Given the description of an element on the screen output the (x, y) to click on. 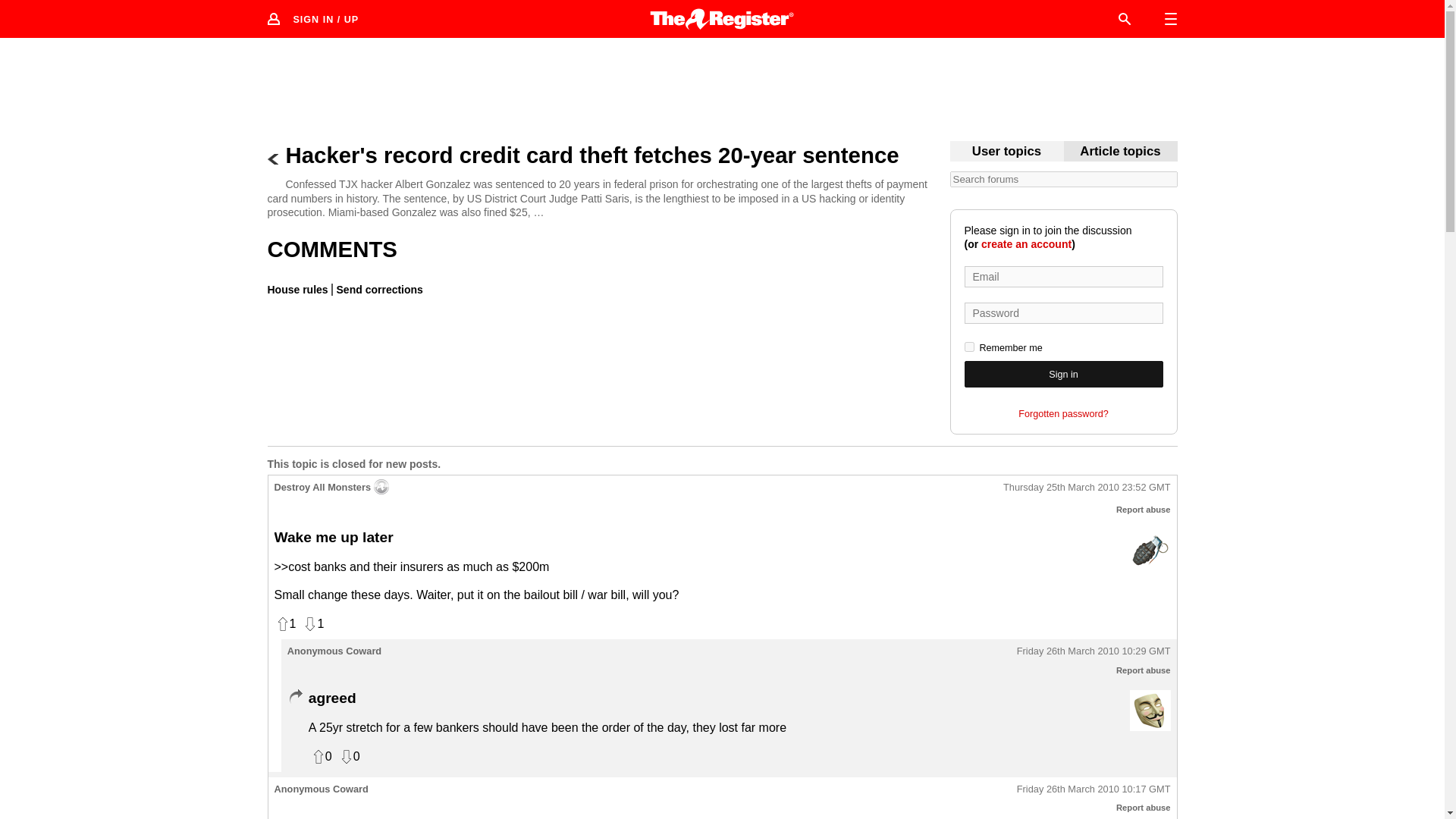
Forgotten password? (1063, 413)
Permalink to this post (1093, 651)
Report abuse (1143, 669)
yes (968, 347)
Sign in (1063, 374)
Silver Badge (381, 486)
Posted by a snivelling, miserable coward (1149, 710)
For corrections, please use link below article copy, kthxbye (1120, 151)
Report abuse (1143, 509)
Suck on this (1149, 549)
